Given the description of an element on the screen output the (x, y) to click on. 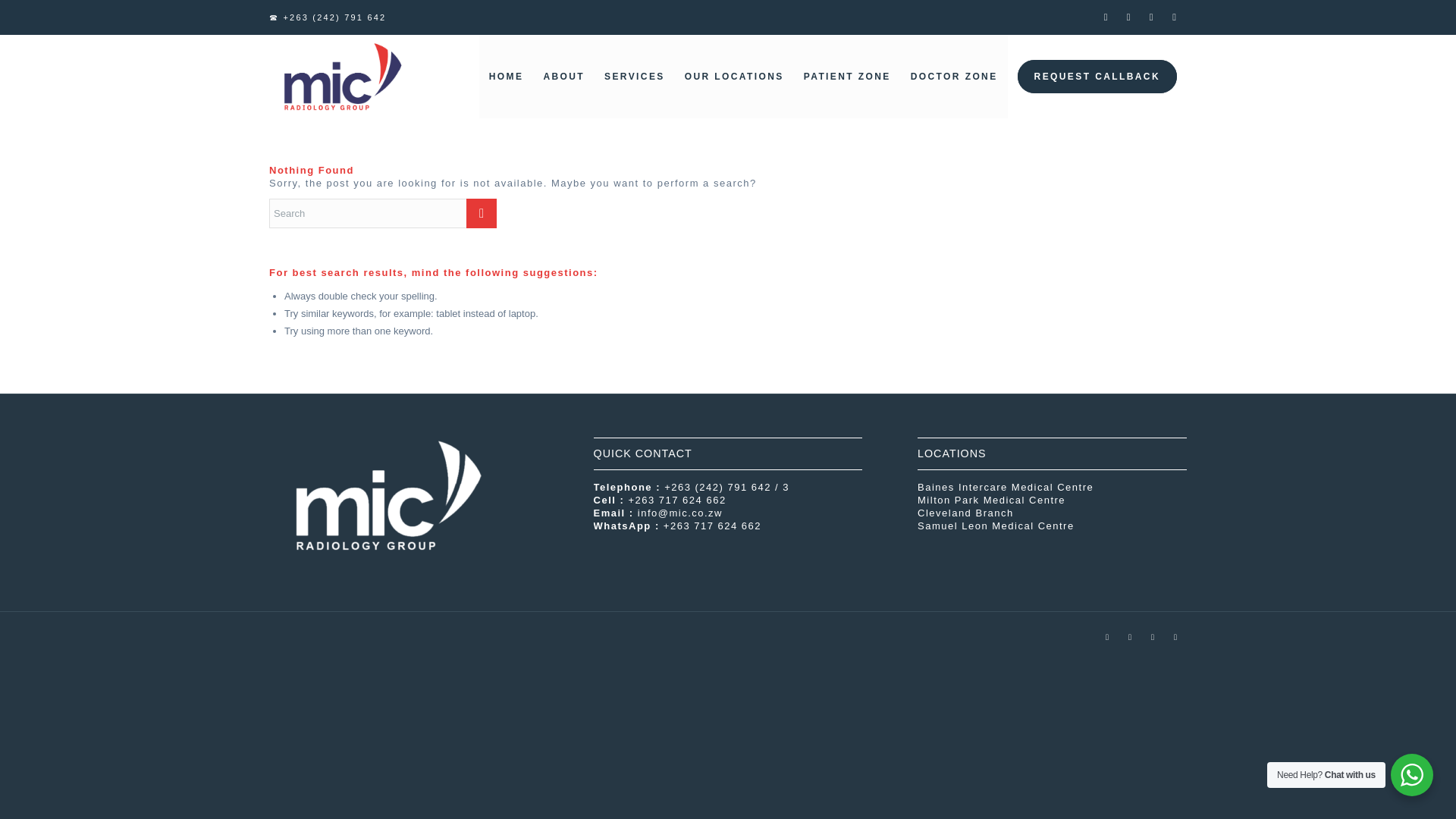
Instagram (1129, 16)
PATIENT ZONE (847, 76)
DOCTOR ZONE (954, 76)
REQUEST CALLBACK (1096, 76)
Click to start search (480, 213)
WhatsApp (1174, 636)
Facebook (1107, 636)
Instagram (1129, 636)
Cleveland Branch (965, 512)
LinkedIn (1152, 636)
OUR LOCATIONS (734, 76)
Baines Intercare Medical Centre (1005, 487)
Milton Park Medical Centre (991, 500)
Facebook (1107, 16)
SERVICES (634, 76)
